Given the description of an element on the screen output the (x, y) to click on. 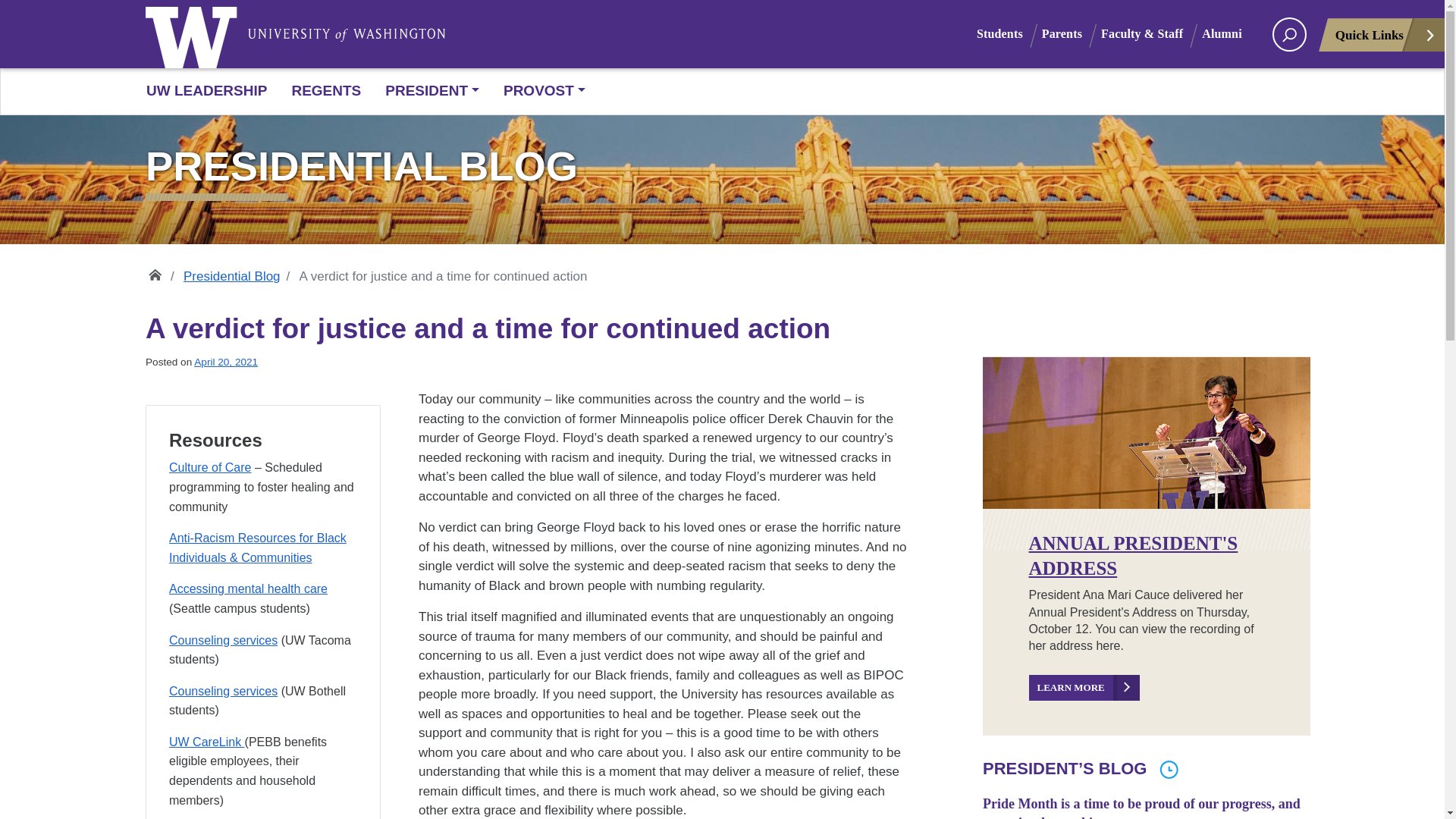
REGENTS (325, 91)
Presidential Blog (721, 165)
University of Washington (371, 35)
University of Washington (194, 33)
Office of the President (154, 270)
University of Washington Home (371, 35)
UW LEADERSHIP (213, 91)
University of Washington Home (194, 33)
Students (1009, 33)
PRESIDENTIAL BLOG (721, 165)
Alumni (1231, 33)
PROVOST (538, 91)
PRESIDENT (432, 91)
Office of the President (154, 270)
